Given the description of an element on the screen output the (x, y) to click on. 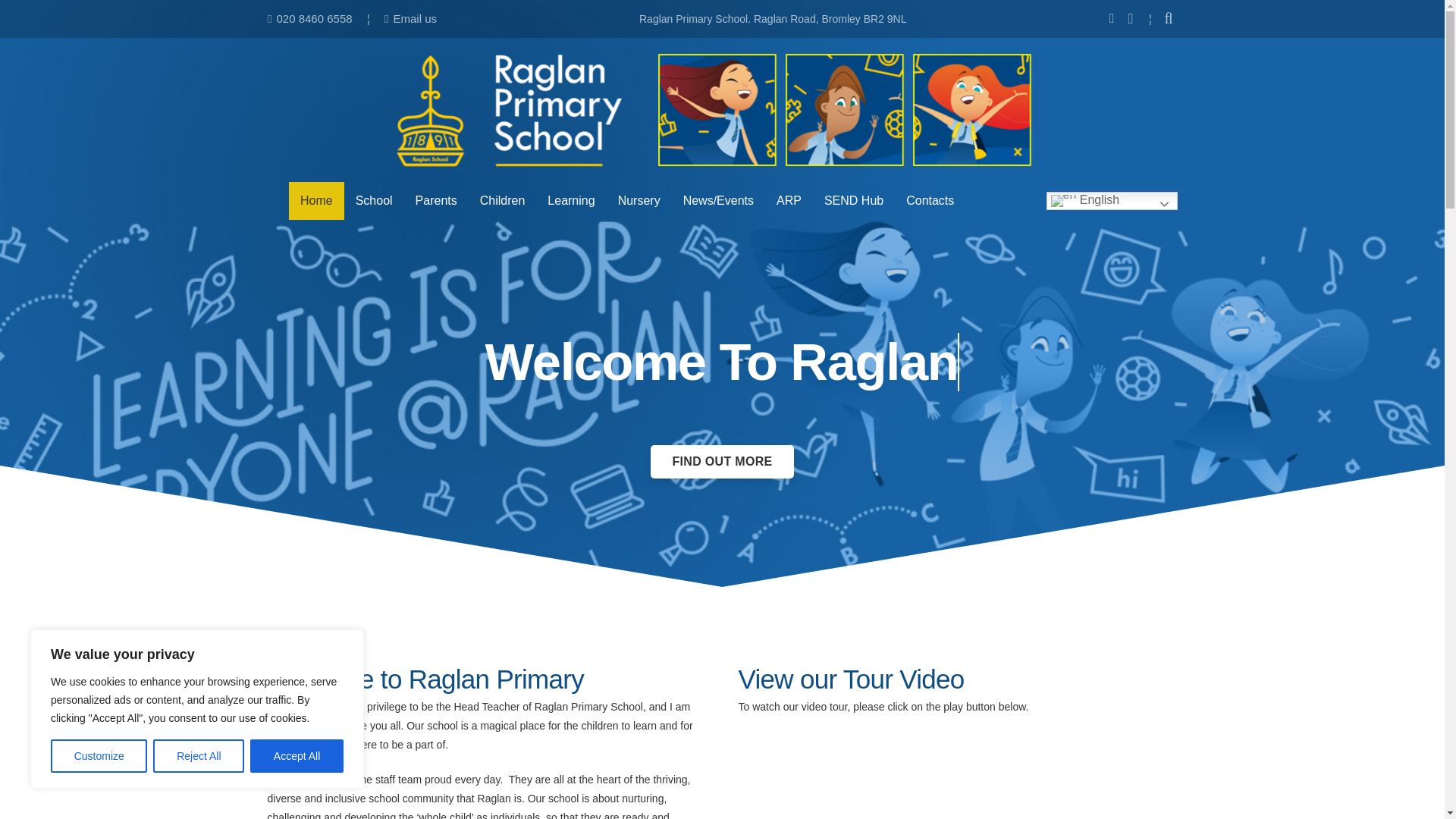
Reject All (198, 756)
School (373, 200)
Home (315, 200)
No Comments (614, 604)
No Comments (798, 512)
020 8460 6558 (309, 18)
No Comments (777, 561)
Customize (98, 756)
Email us (410, 18)
No Comments (805, 537)
